Given the description of an element on the screen output the (x, y) to click on. 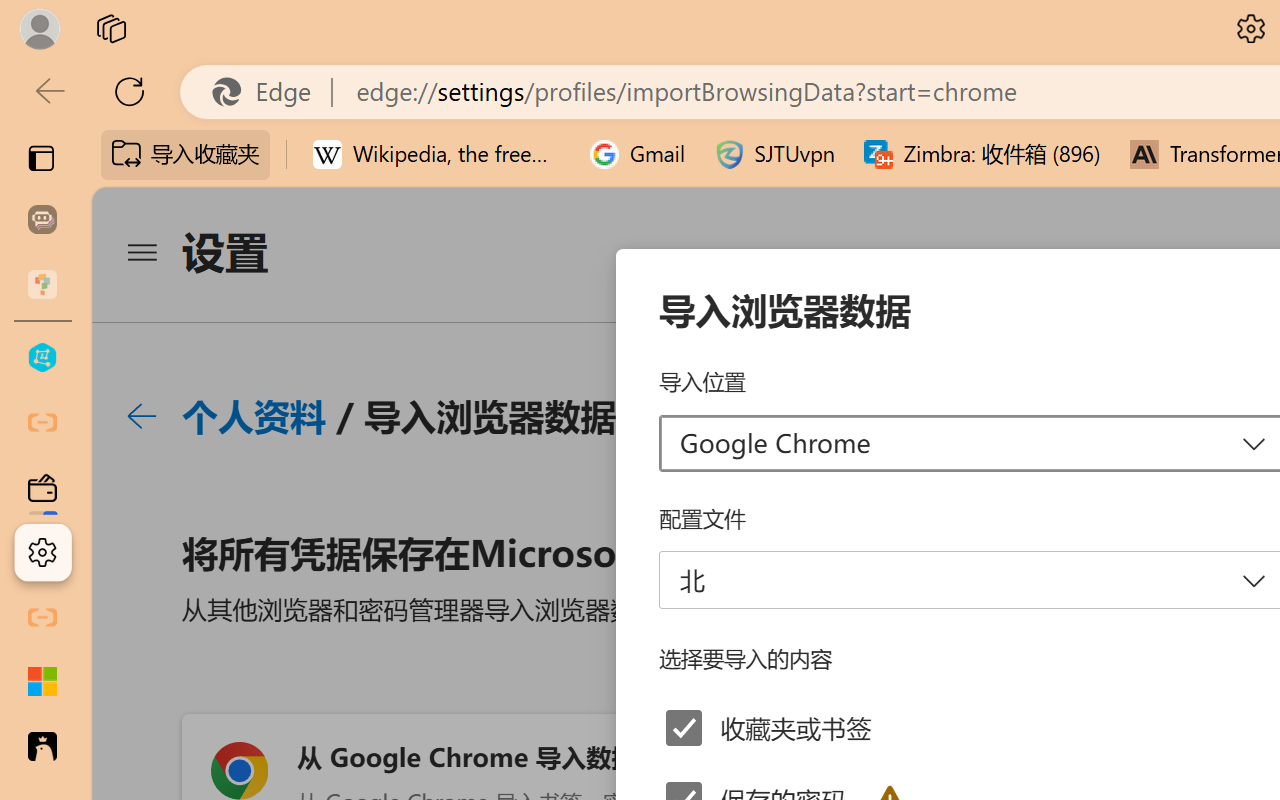
Adjust indents and spacing - Microsoft Support (42, 681)
wangyian_dsw - DSW (42, 357)
SJTUvpn (774, 154)
Edge (269, 91)
Class: c01179 (141, 416)
